Given the description of an element on the screen output the (x, y) to click on. 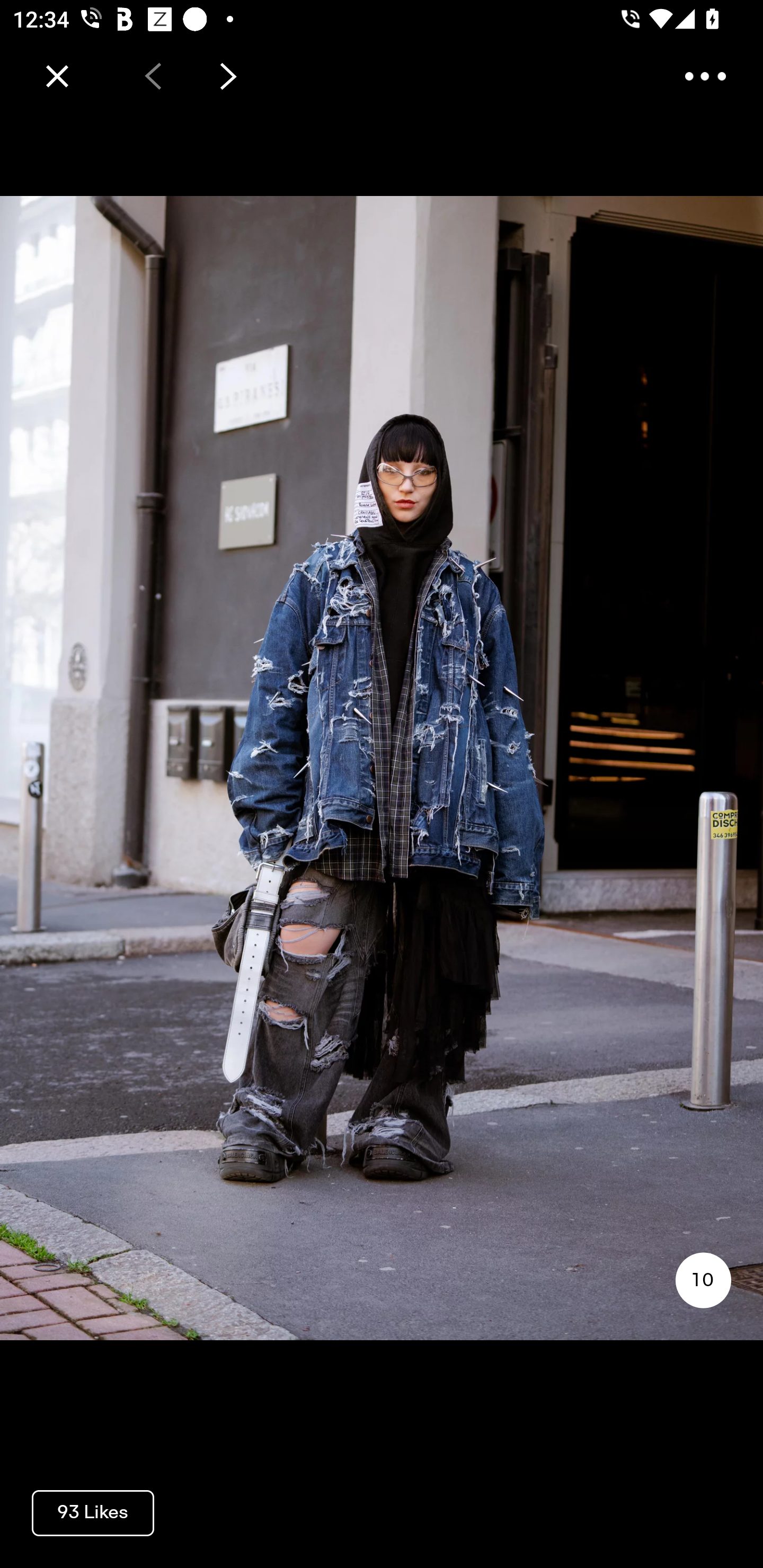
10 (702, 1279)
93 Likes (93, 1512)
